Given the description of an element on the screen output the (x, y) to click on. 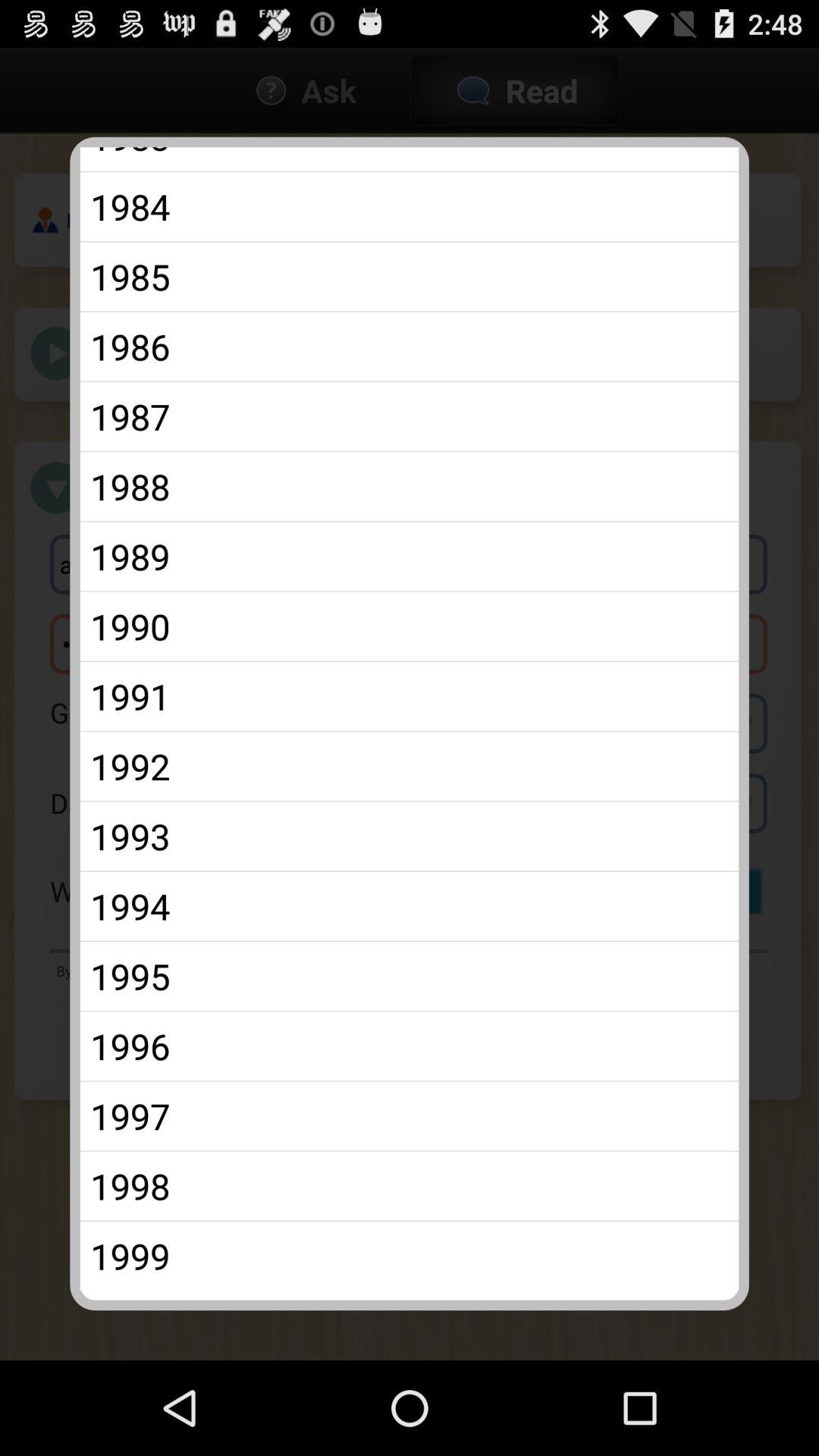
open the icon above 1998 app (409, 1115)
